Given the description of an element on the screen output the (x, y) to click on. 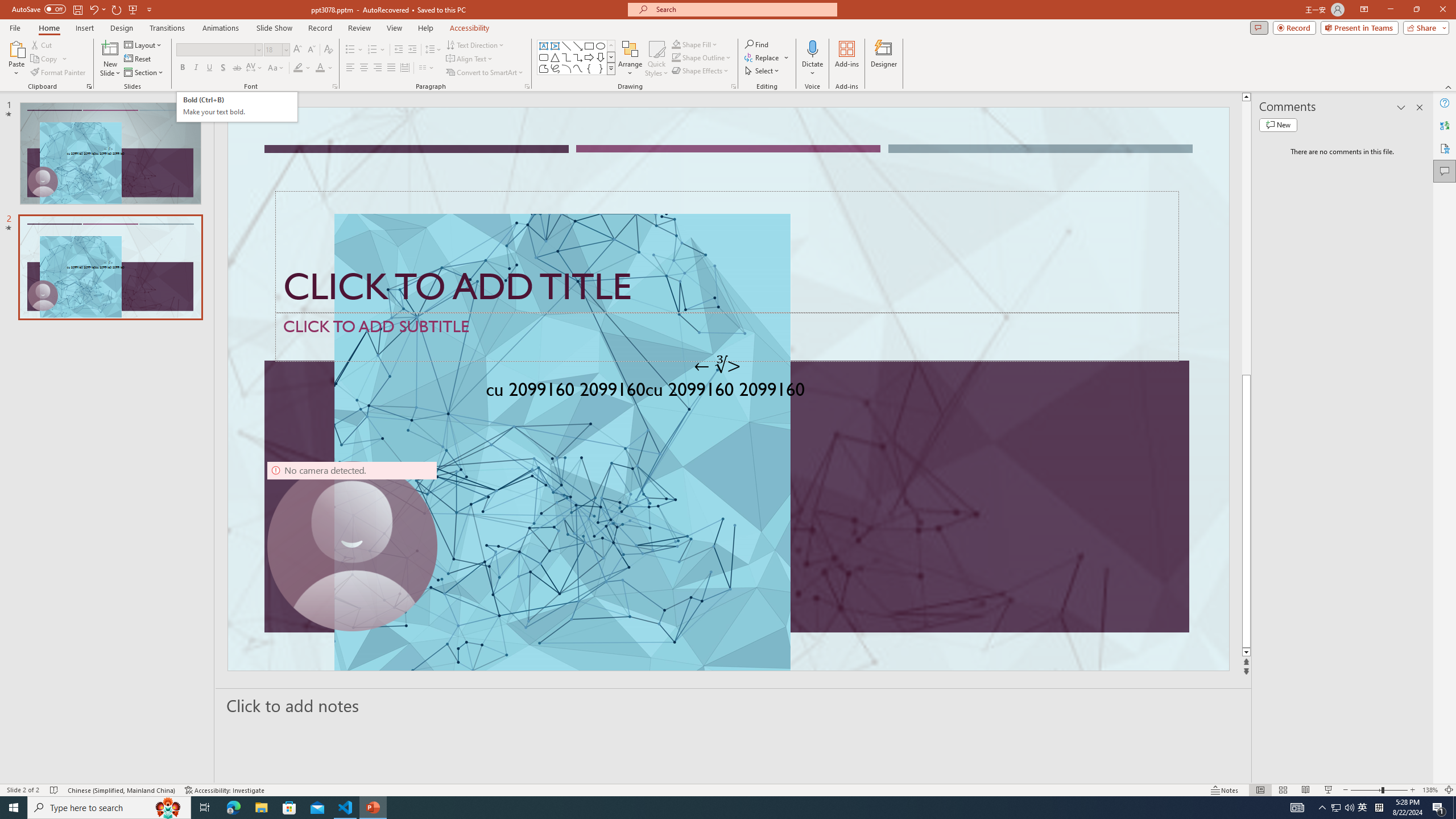
Copy (45, 58)
Text Box (543, 45)
Shape Outline Green, Accent 1 (675, 56)
Dictate (812, 58)
Paste (16, 48)
Text Highlight Color Yellow (297, 67)
Quick Access Toolbar (82, 9)
Collapse the Ribbon (1448, 86)
Page up (1245, 238)
Camera 9, No camera detected. (352, 546)
Justify (390, 67)
Select (762, 69)
View (395, 28)
Review (359, 28)
Class: NetUIImage (610, 68)
